Given the description of an element on the screen output the (x, y) to click on. 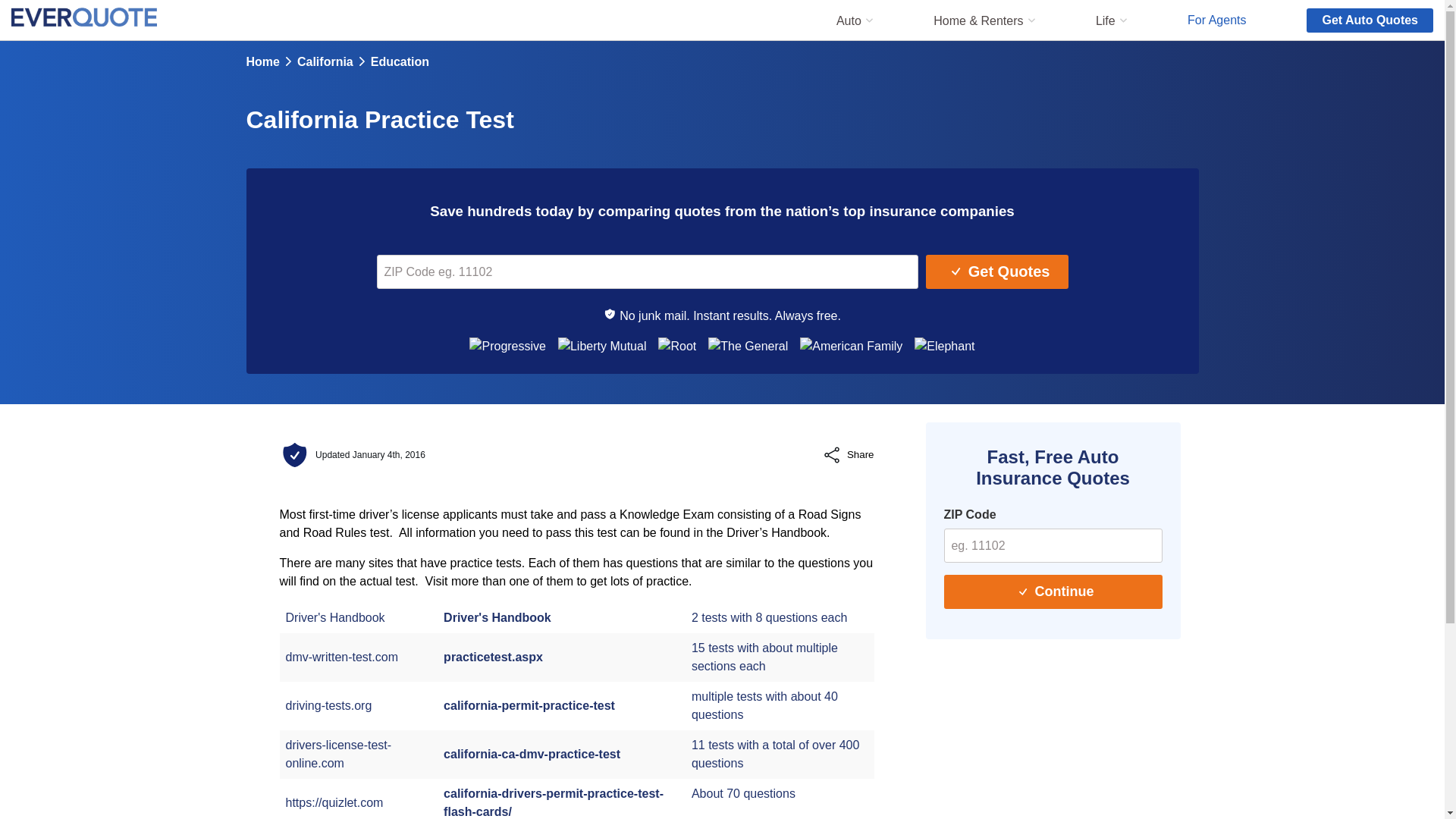
For Agents (1217, 19)
Driver's Handbook (497, 617)
california-permit-practice-test (529, 705)
California (325, 62)
Auto (848, 20)
Home (262, 62)
Education (400, 62)
practicetest.aspx (493, 656)
Share (848, 454)
Get Auto Quotes (1369, 19)
